Given the description of an element on the screen output the (x, y) to click on. 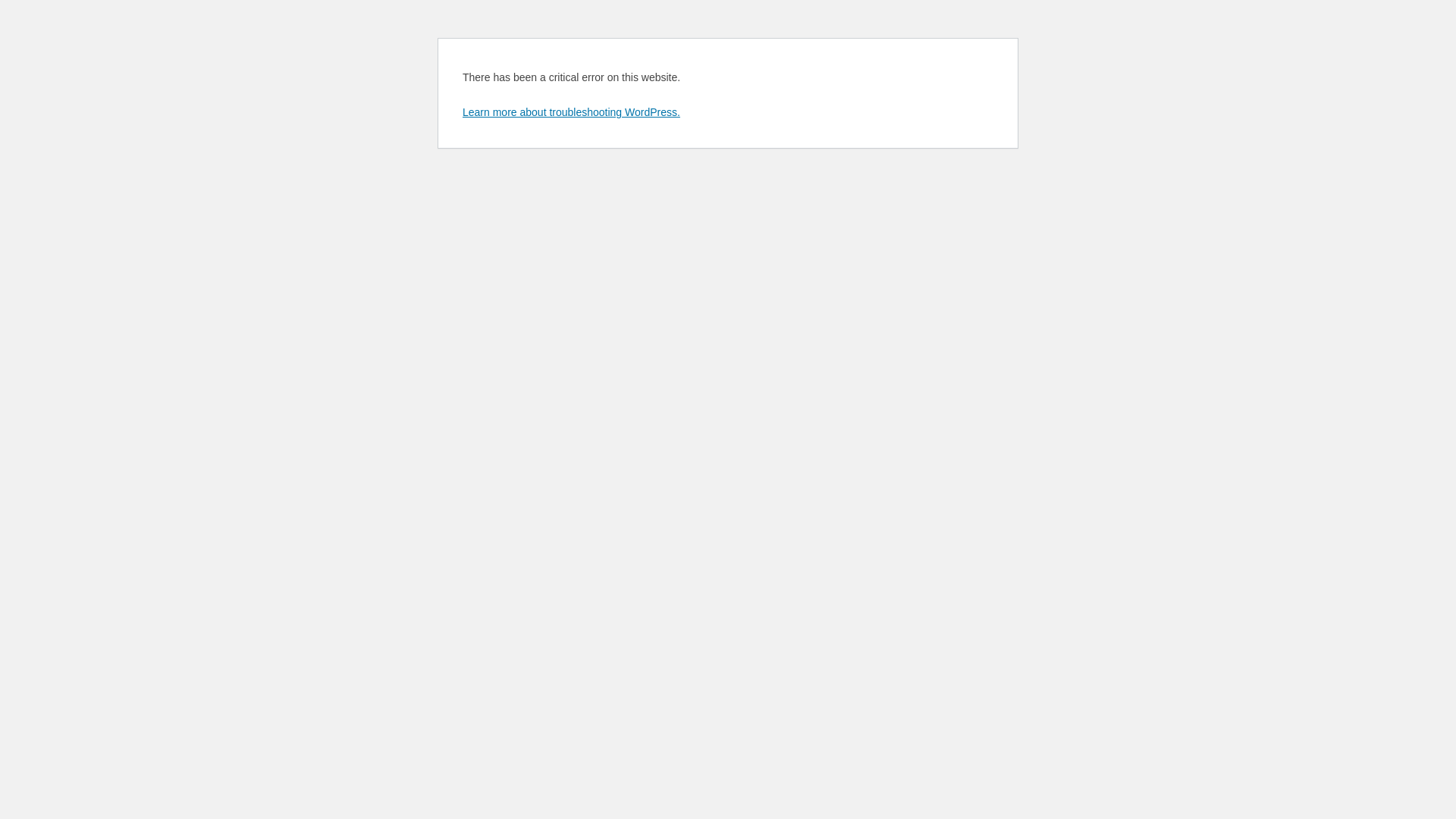
Learn more about troubleshooting WordPress. Element type: text (571, 112)
